Given the description of an element on the screen output the (x, y) to click on. 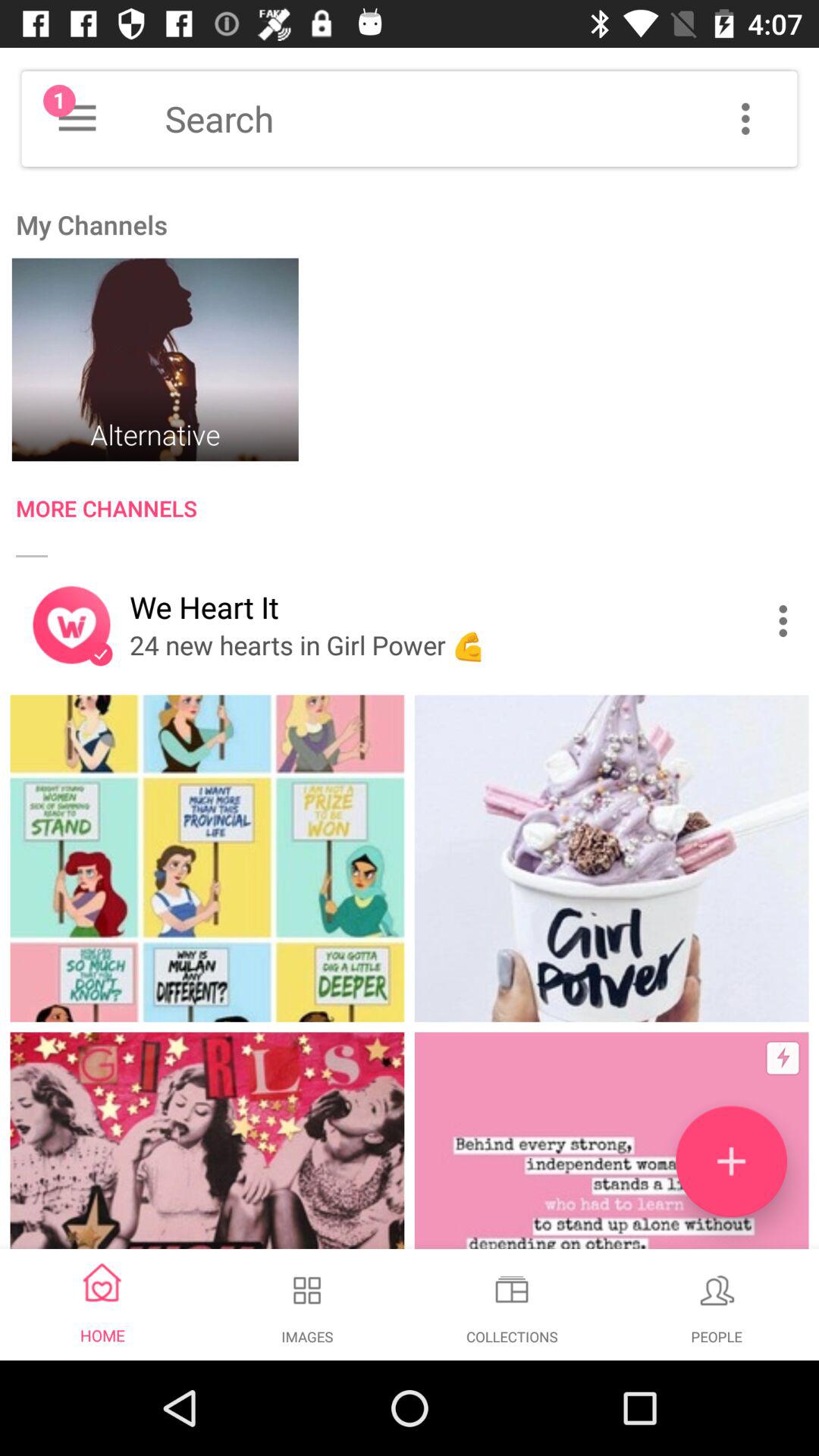
go to menu (745, 118)
